Given the description of an element on the screen output the (x, y) to click on. 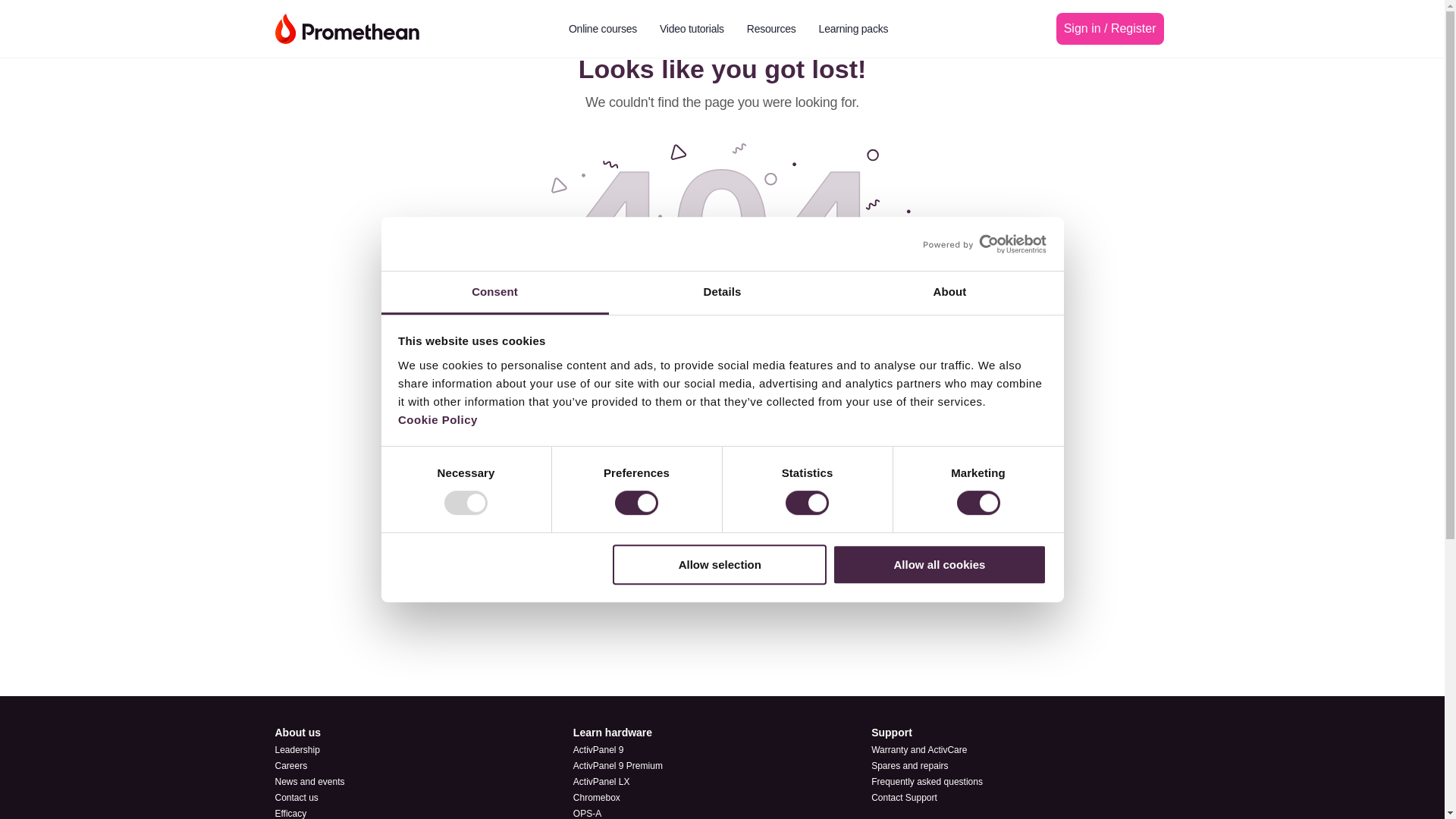
About (948, 292)
Consent (494, 292)
Cookie Policy (437, 419)
Details (721, 292)
